Given the description of an element on the screen output the (x, y) to click on. 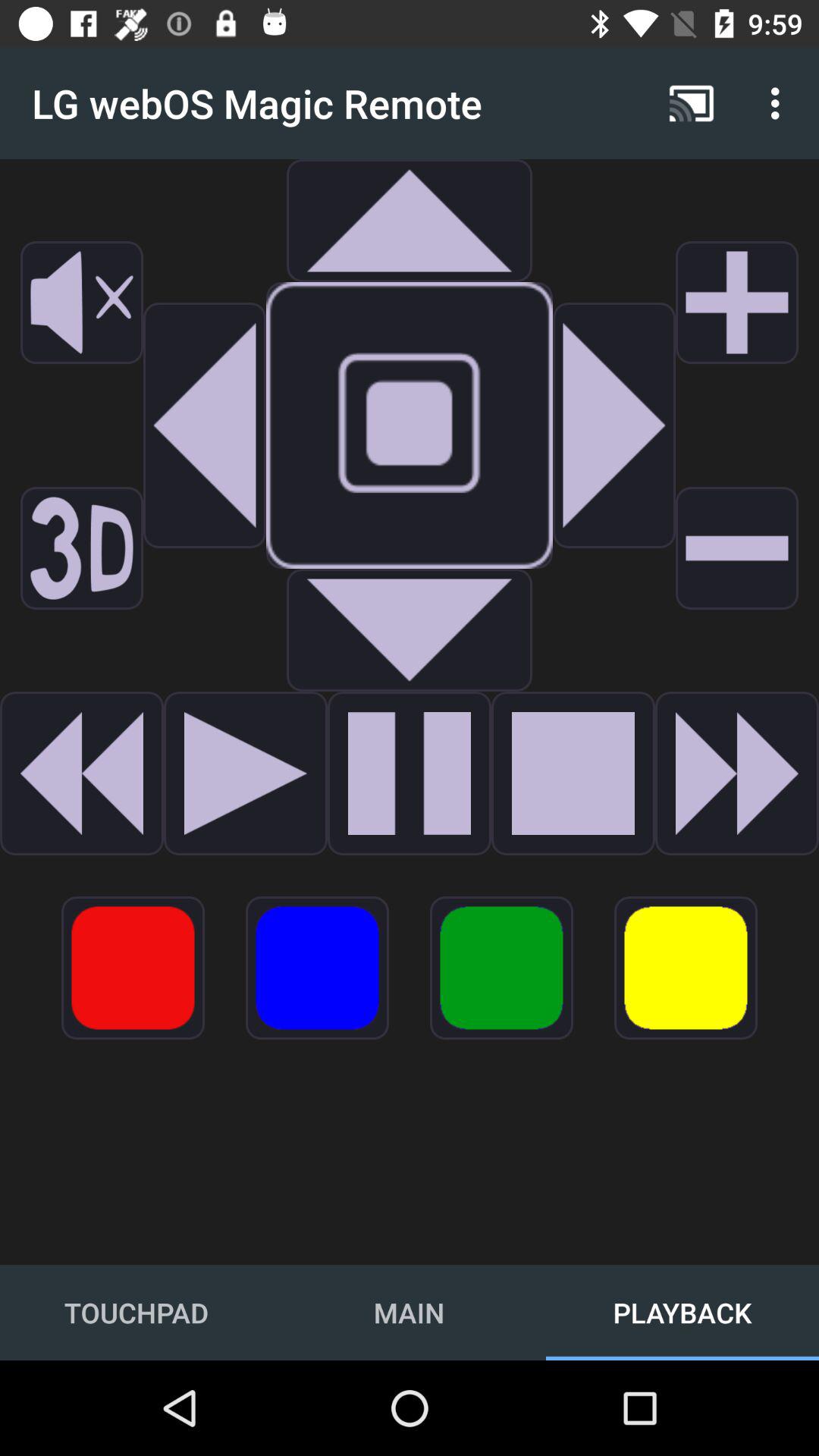
launch the item above the playback item (685, 967)
